Given the description of an element on the screen output the (x, y) to click on. 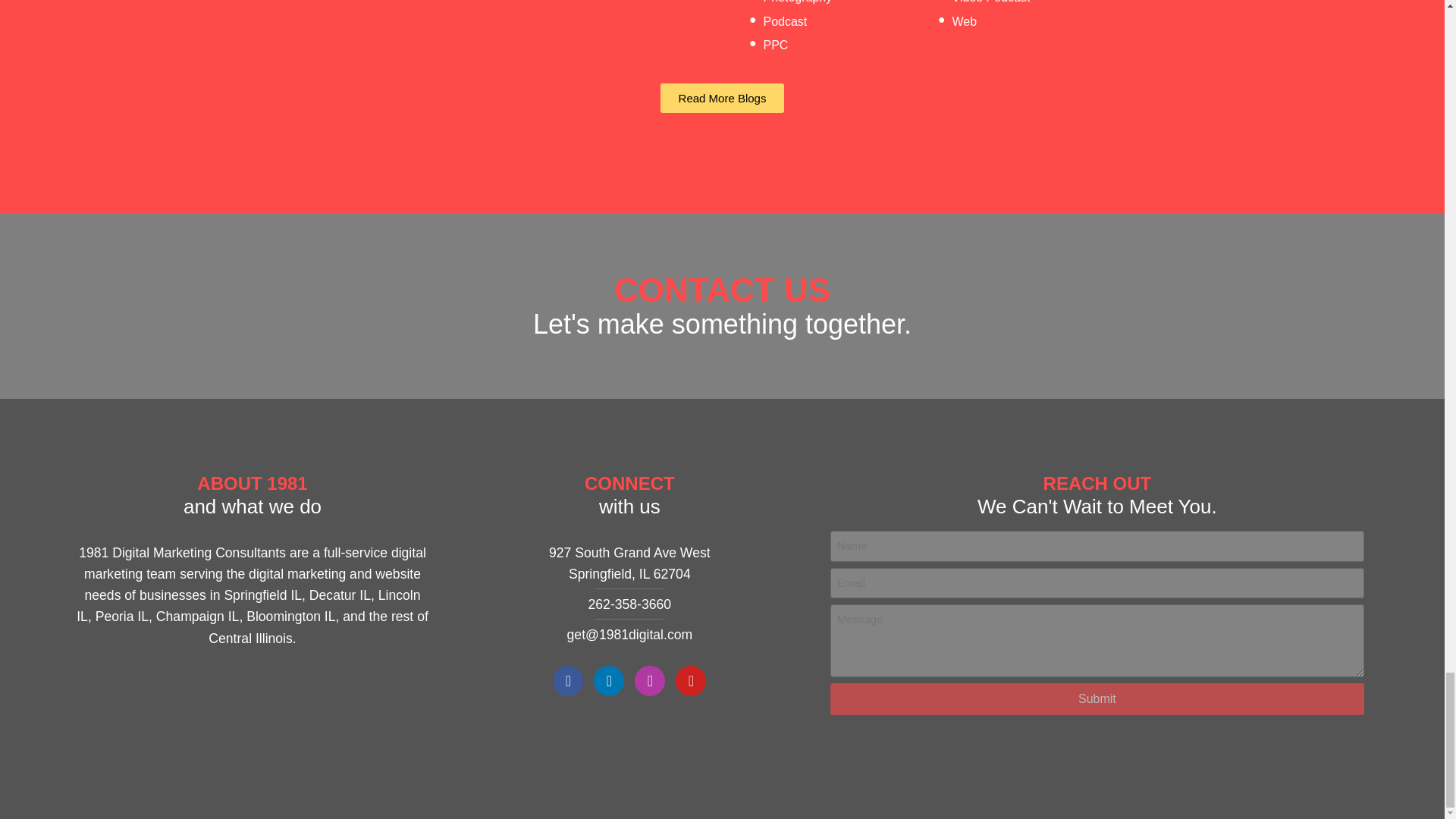
Photography (796, 2)
Podcast (784, 21)
Submit (1096, 698)
